Given the description of an element on the screen output the (x, y) to click on. 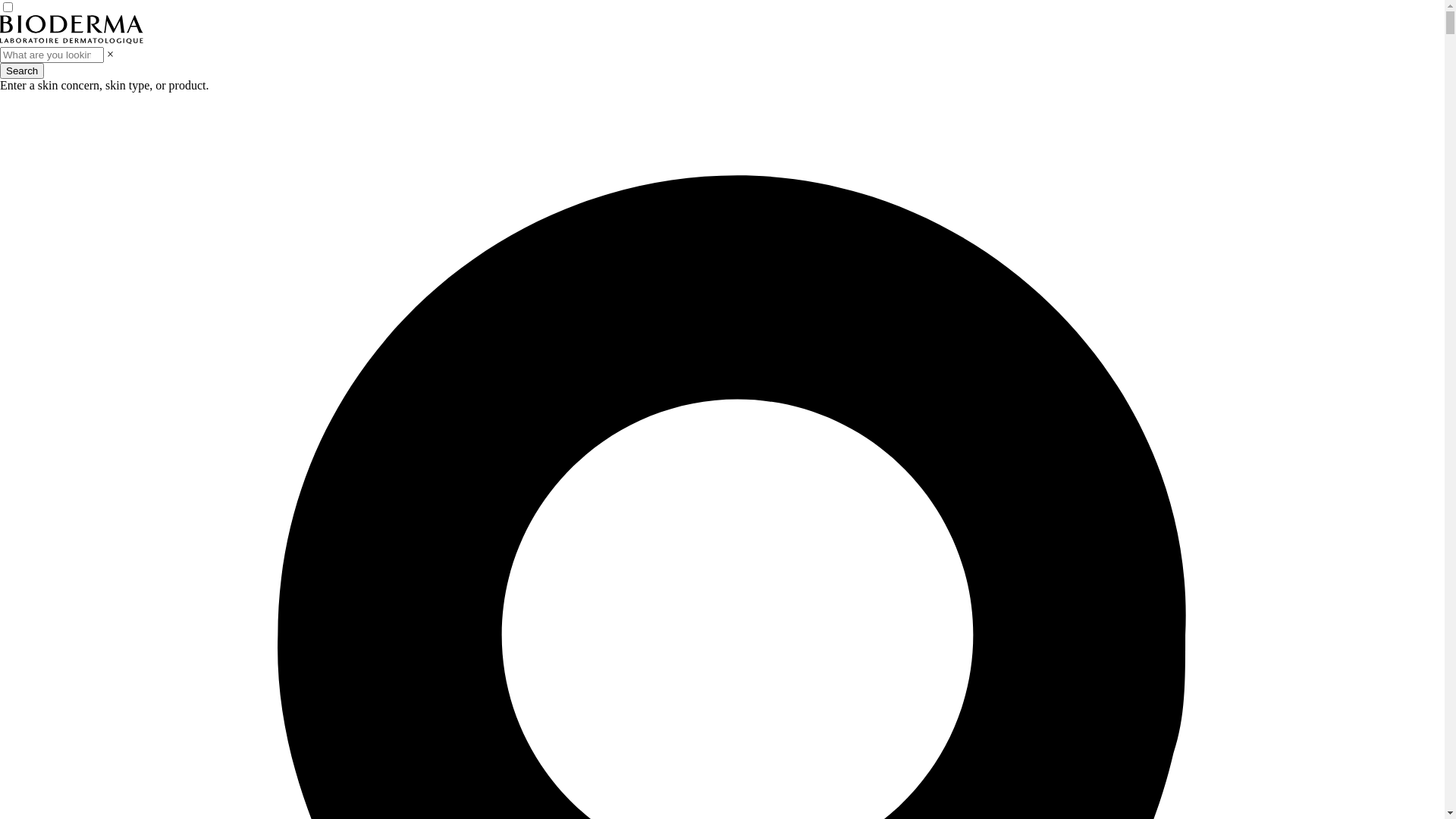
Search Element type: text (21, 70)
Home Element type: text (71, 39)
Skip to main content Element type: text (0, 0)
